Given the description of an element on the screen output the (x, y) to click on. 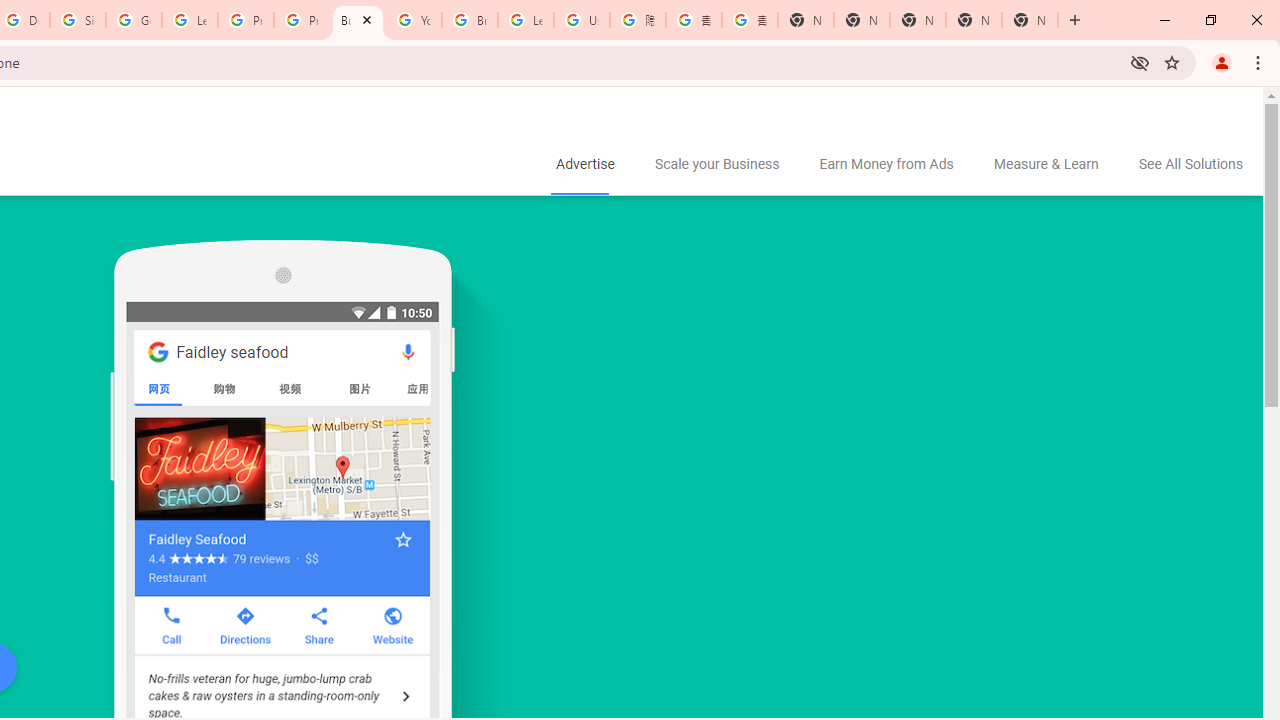
Earn Money from Ads (886, 165)
Sign in - Google Accounts (77, 20)
Privacy Help Center - Policies Help (245, 20)
YouTube (413, 20)
New Tab (806, 20)
Measure & Learn (1046, 165)
